Given the description of an element on the screen output the (x, y) to click on. 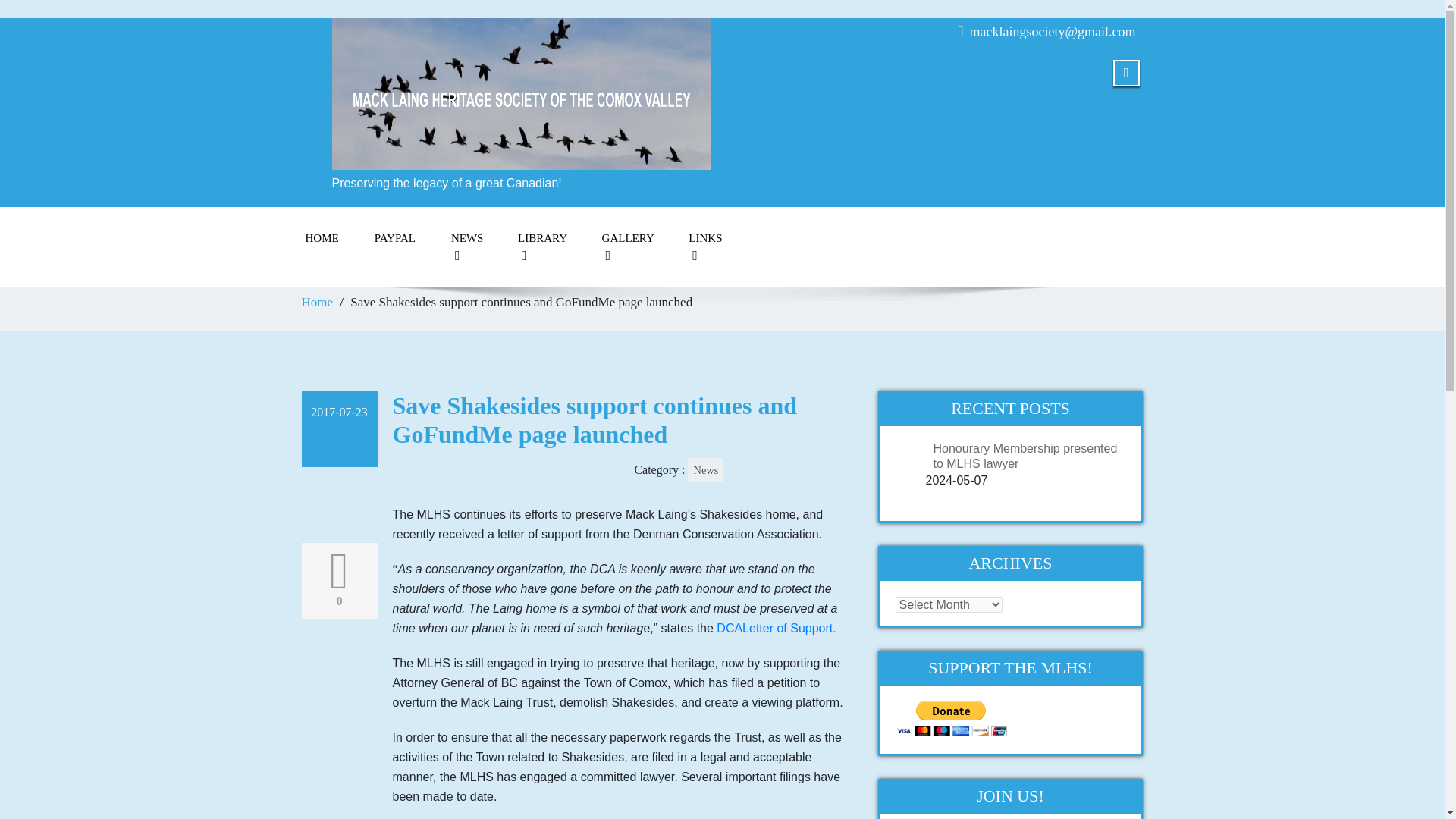
LIBRARY (541, 246)
GALLERY (627, 246)
Mack Laing Heritage Society of the Comox Valley (521, 91)
Home (317, 301)
News (705, 469)
HOME (321, 237)
LINKS (704, 246)
PAYPAL (394, 237)
 DCALetter of Support. (774, 627)
NEWS (466, 246)
